Given the description of an element on the screen output the (x, y) to click on. 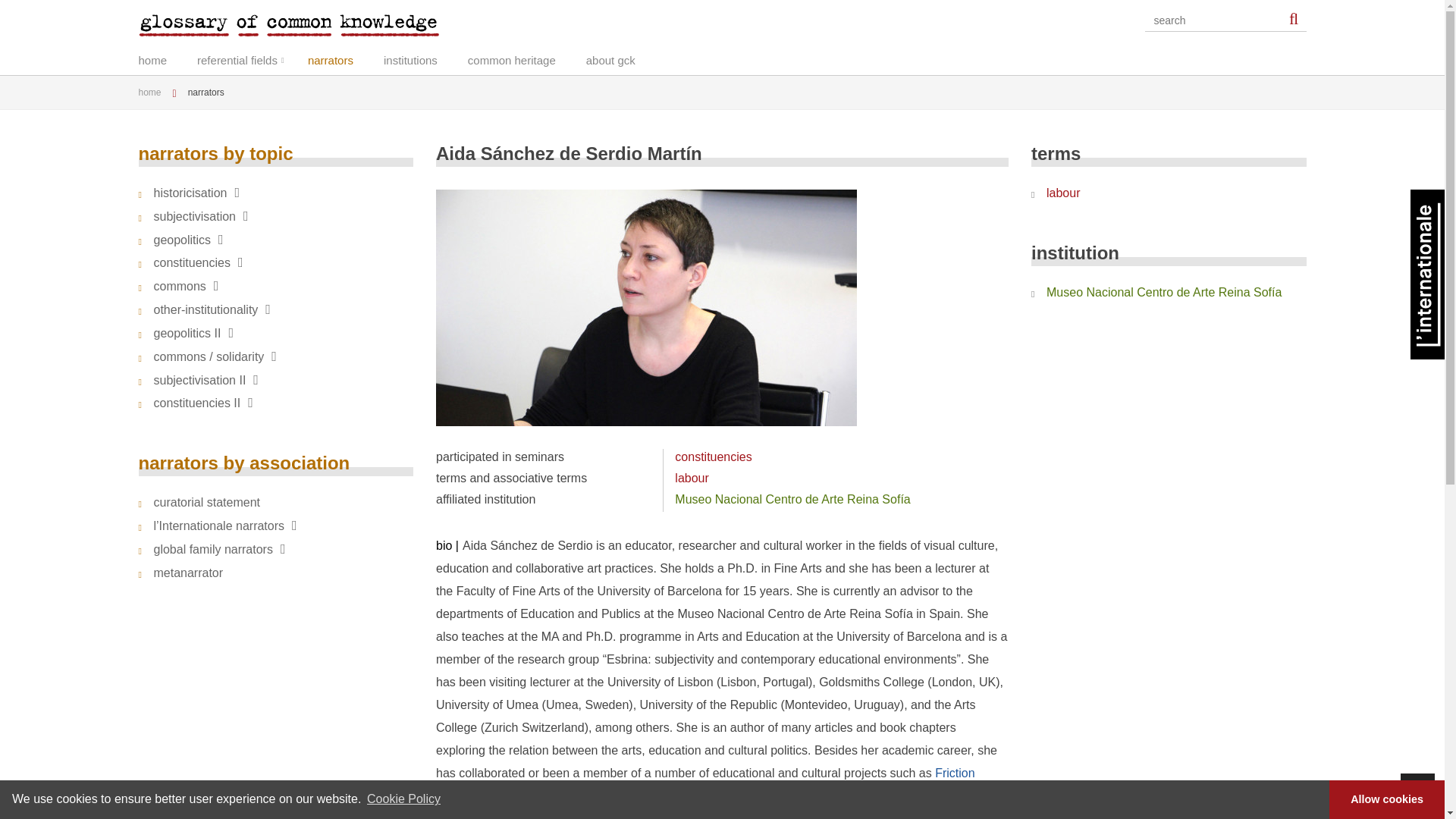
narrators (345, 58)
home (167, 58)
narrators by topic (215, 153)
referential fields (251, 58)
home (167, 58)
referential fields (251, 58)
home (154, 91)
Cookie Policy (403, 798)
common heritage (526, 58)
historicisation (275, 193)
about gck (625, 58)
institutions (425, 58)
